Given the description of an element on the screen output the (x, y) to click on. 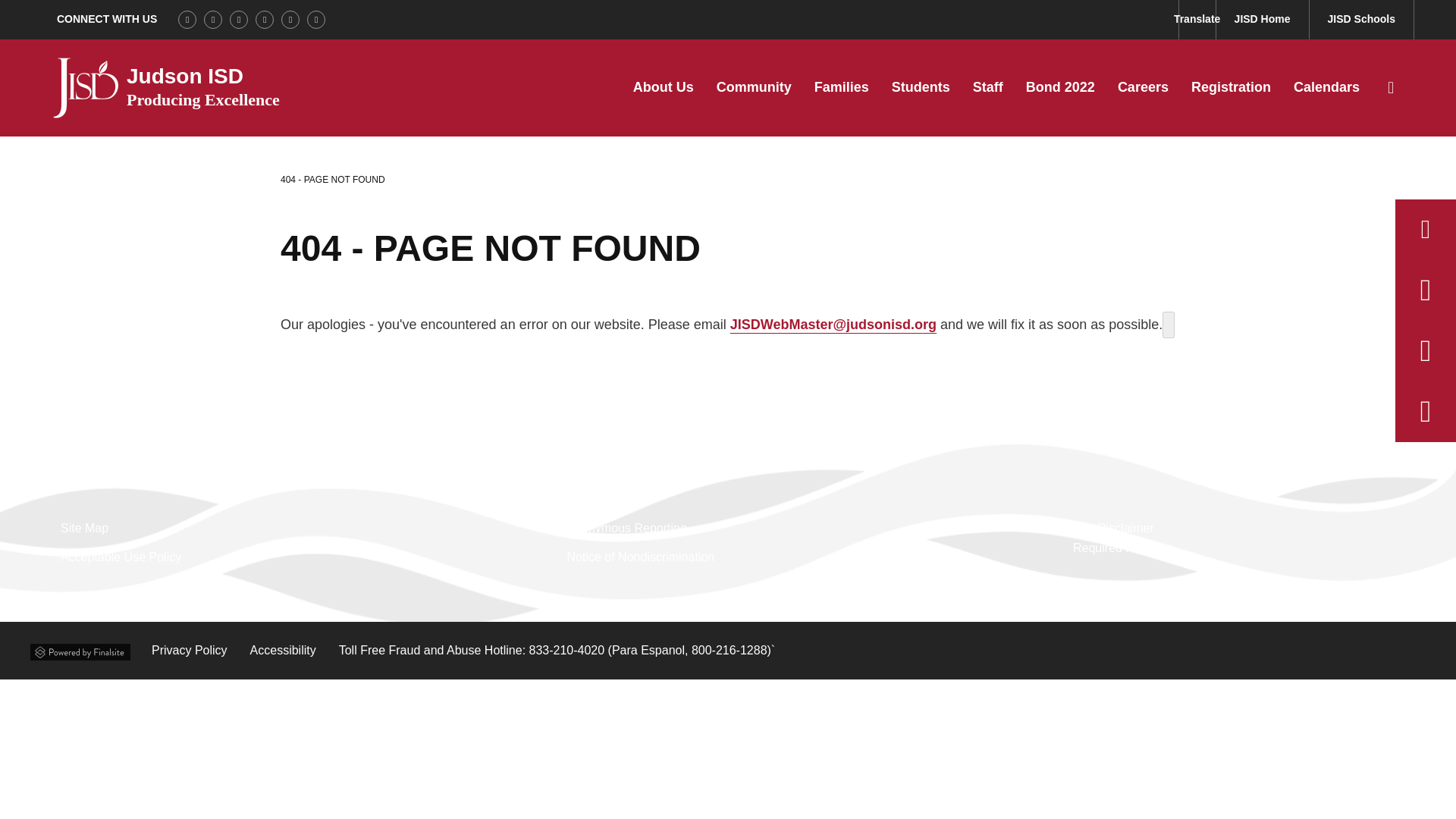
Powered by Finalsite opens in a new window (80, 649)
Edit Banner (1167, 325)
